Given the description of an element on the screen output the (x, y) to click on. 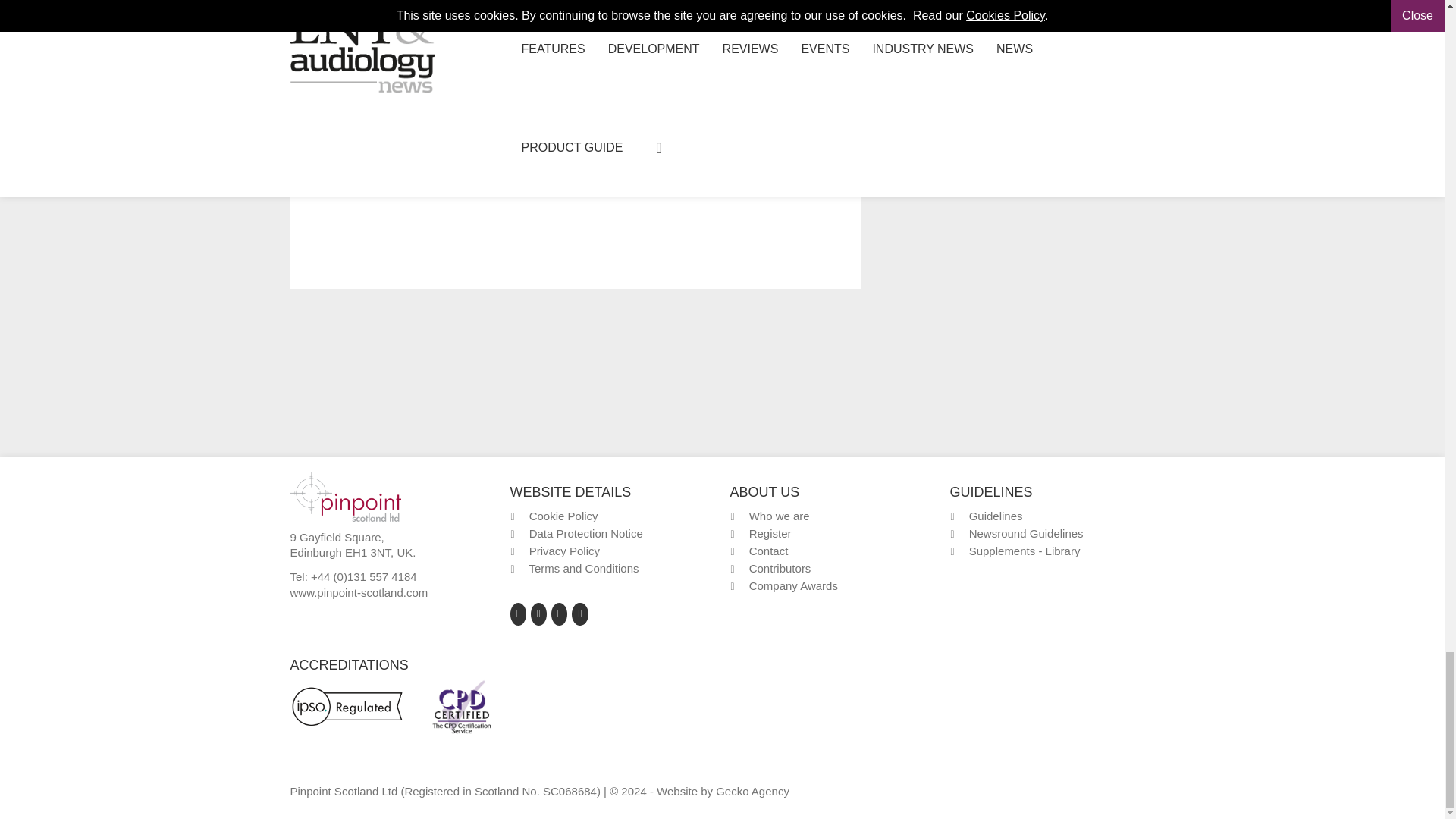
Website by Gecko Agency (752, 790)
